Given the description of an element on the screen output the (x, y) to click on. 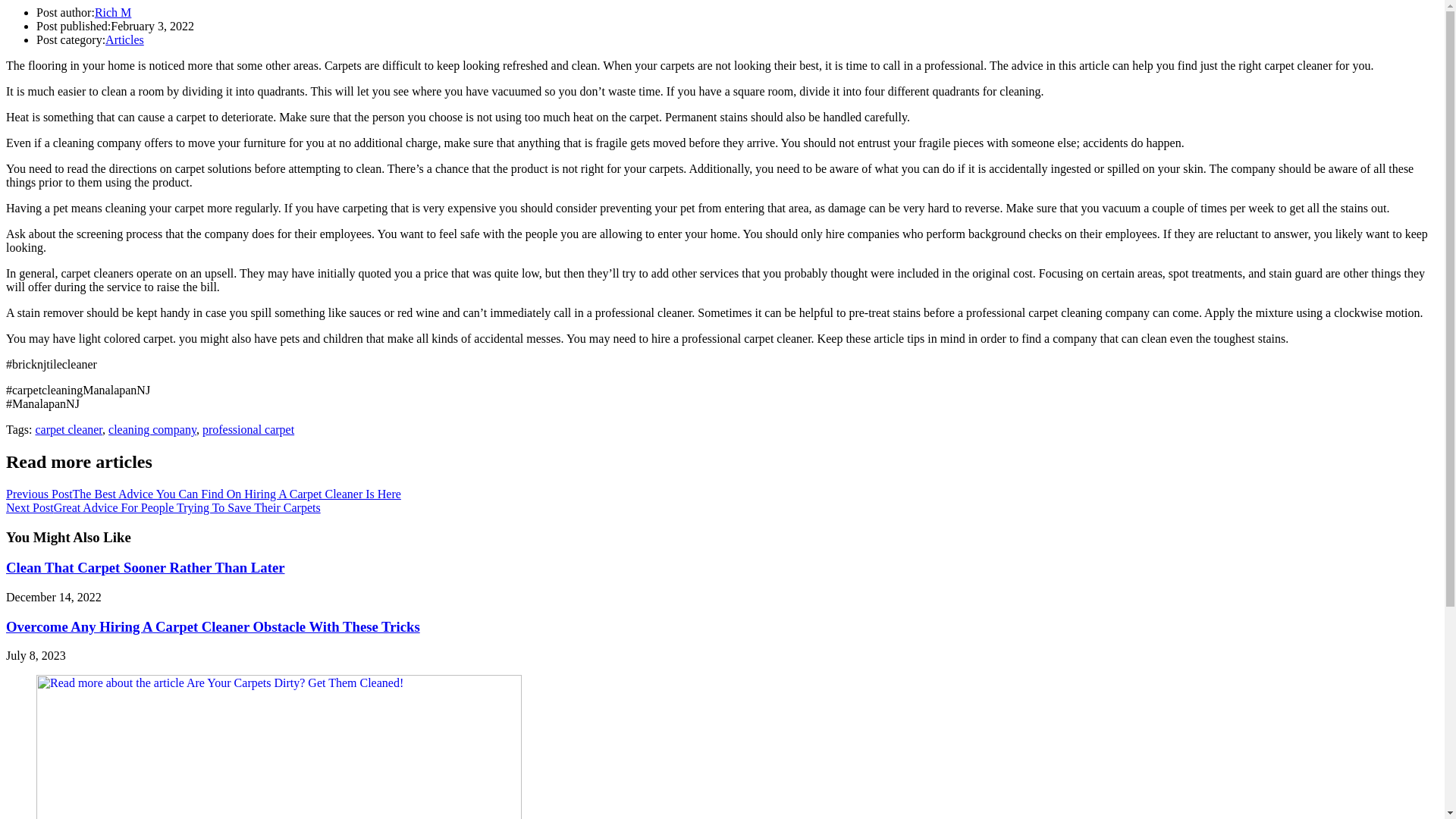
cleaning company (151, 429)
Clean That Carpet Sooner Rather Than Later (145, 567)
Posts by Rich M (112, 11)
Rich M (112, 11)
Articles (124, 39)
professional carpet (248, 429)
carpet cleaner (67, 429)
